Given the description of an element on the screen output the (x, y) to click on. 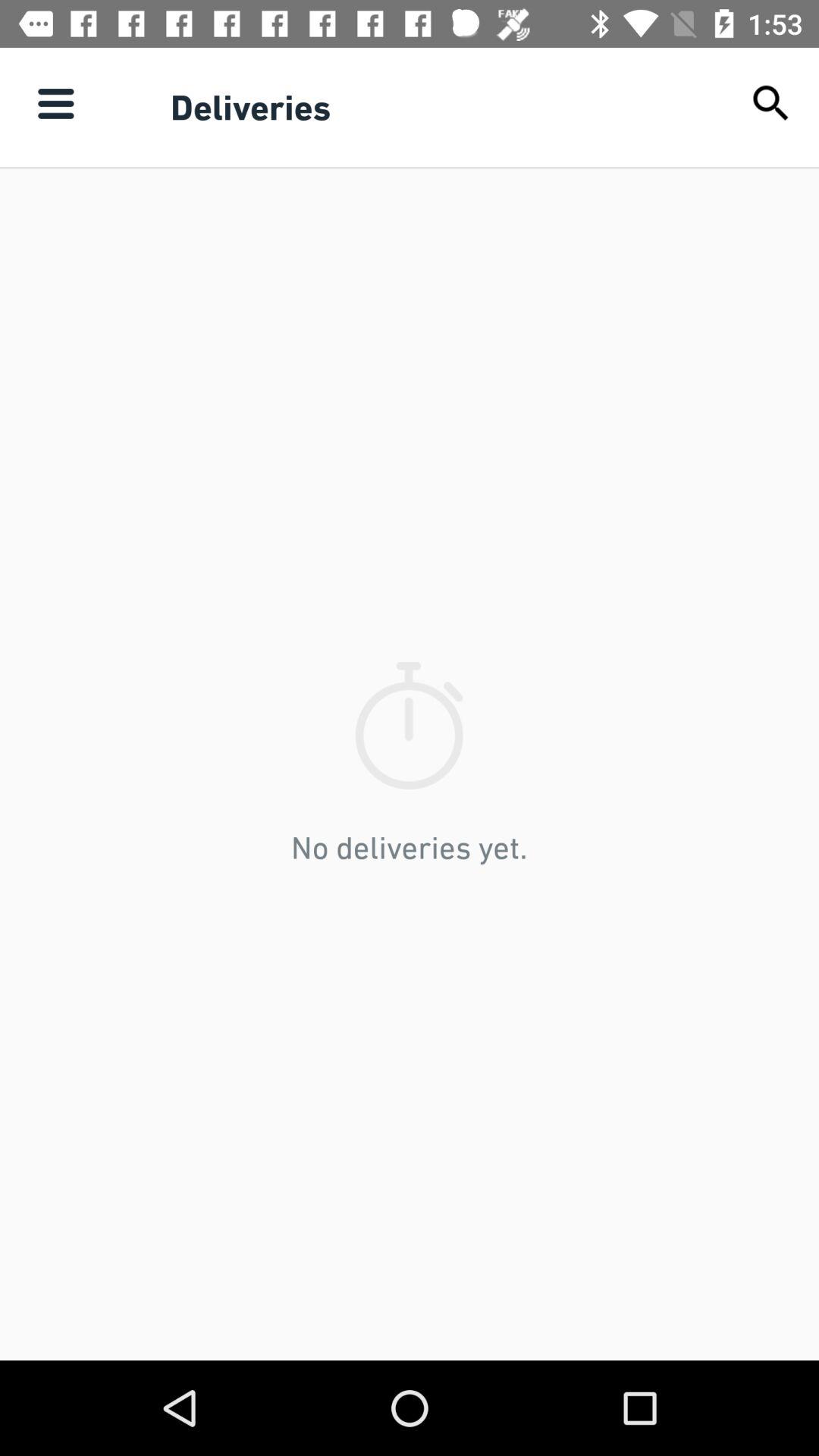
press item to the left of the deliveries icon (55, 103)
